Given the description of an element on the screen output the (x, y) to click on. 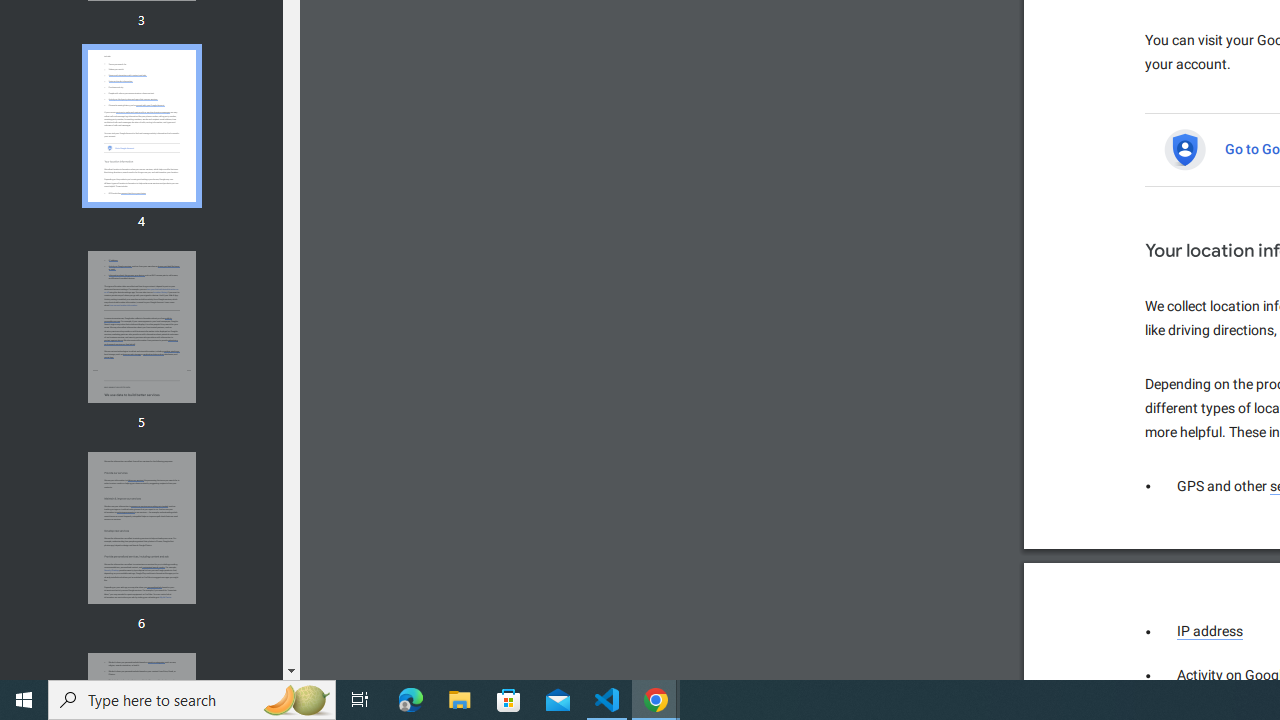
AutomationID: thumbnail (141, 528)
Thumbnail for page 6 (141, 528)
Thumbnail for page 4 (141, 125)
Thumbnail for page 5 (141, 326)
IP address (1210, 631)
